Given the description of an element on the screen output the (x, y) to click on. 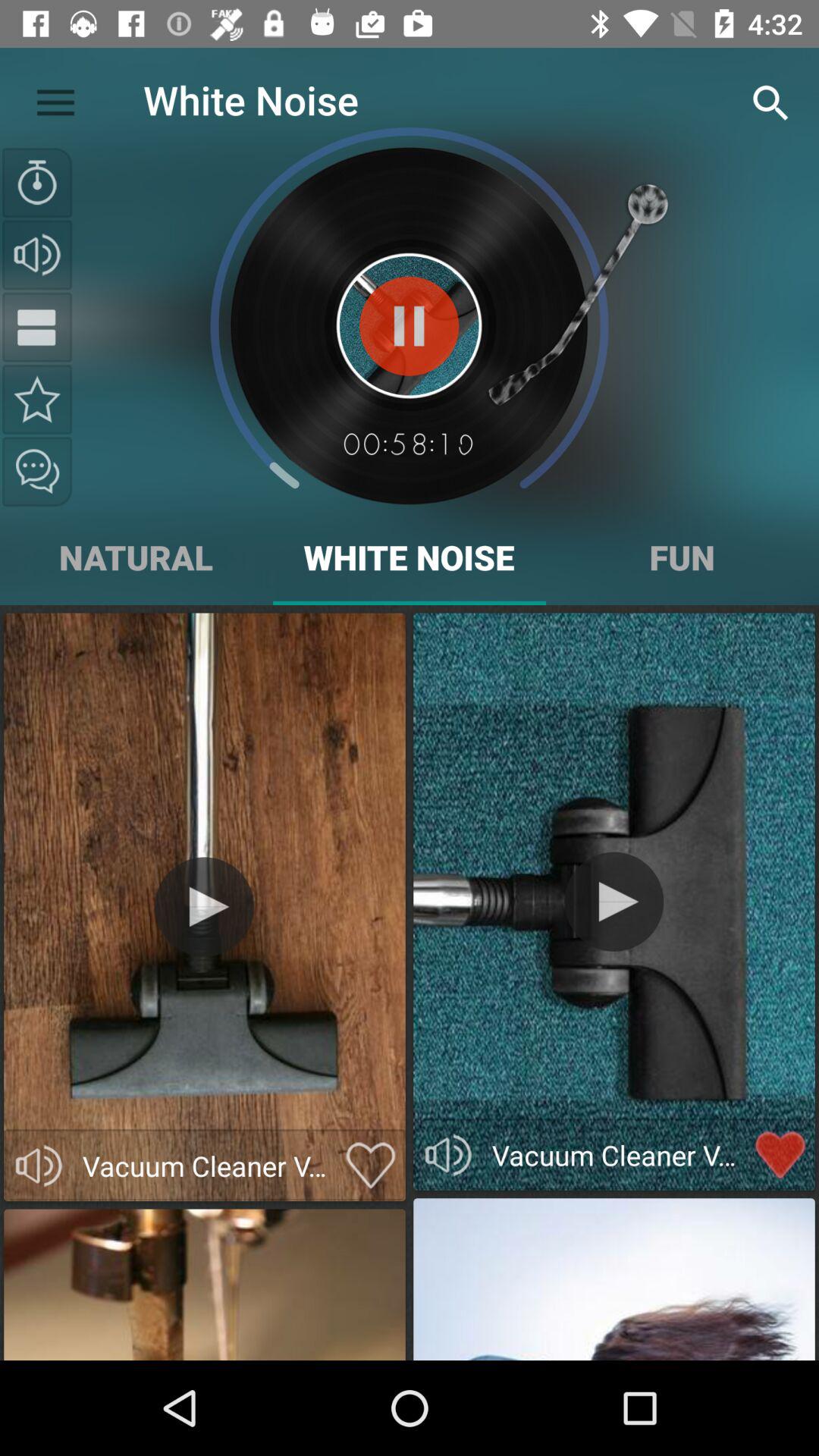
mark as favorite (370, 1165)
